Given the description of an element on the screen output the (x, y) to click on. 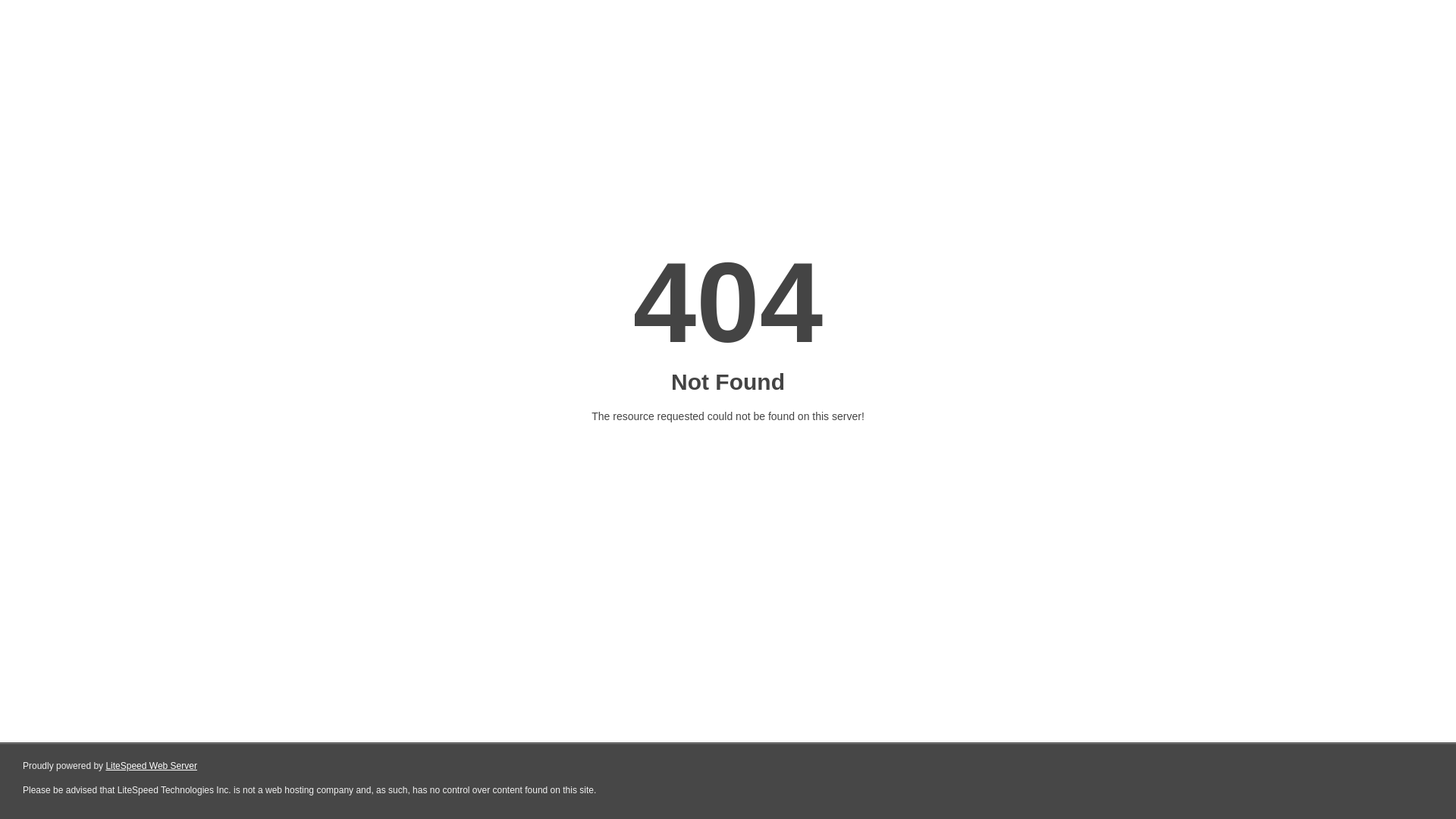
LiteSpeed Web Server Element type: text (151, 765)
